Given the description of an element on the screen output the (x, y) to click on. 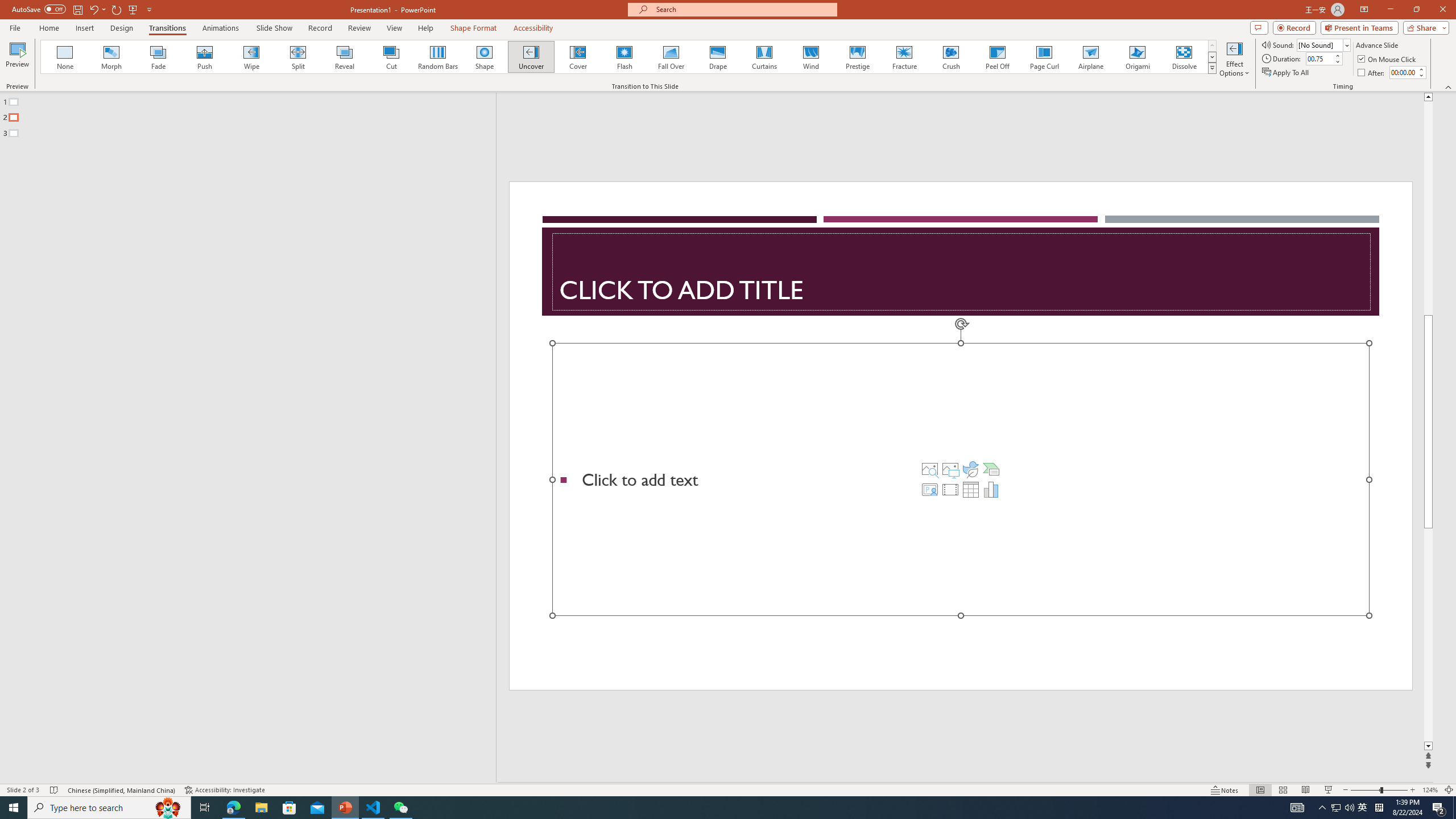
Page Curl (1043, 56)
AutomationID: AnimationTransitionGallery (628, 56)
Effect Options (1234, 58)
Prestige (857, 56)
